Given the description of an element on the screen output the (x, y) to click on. 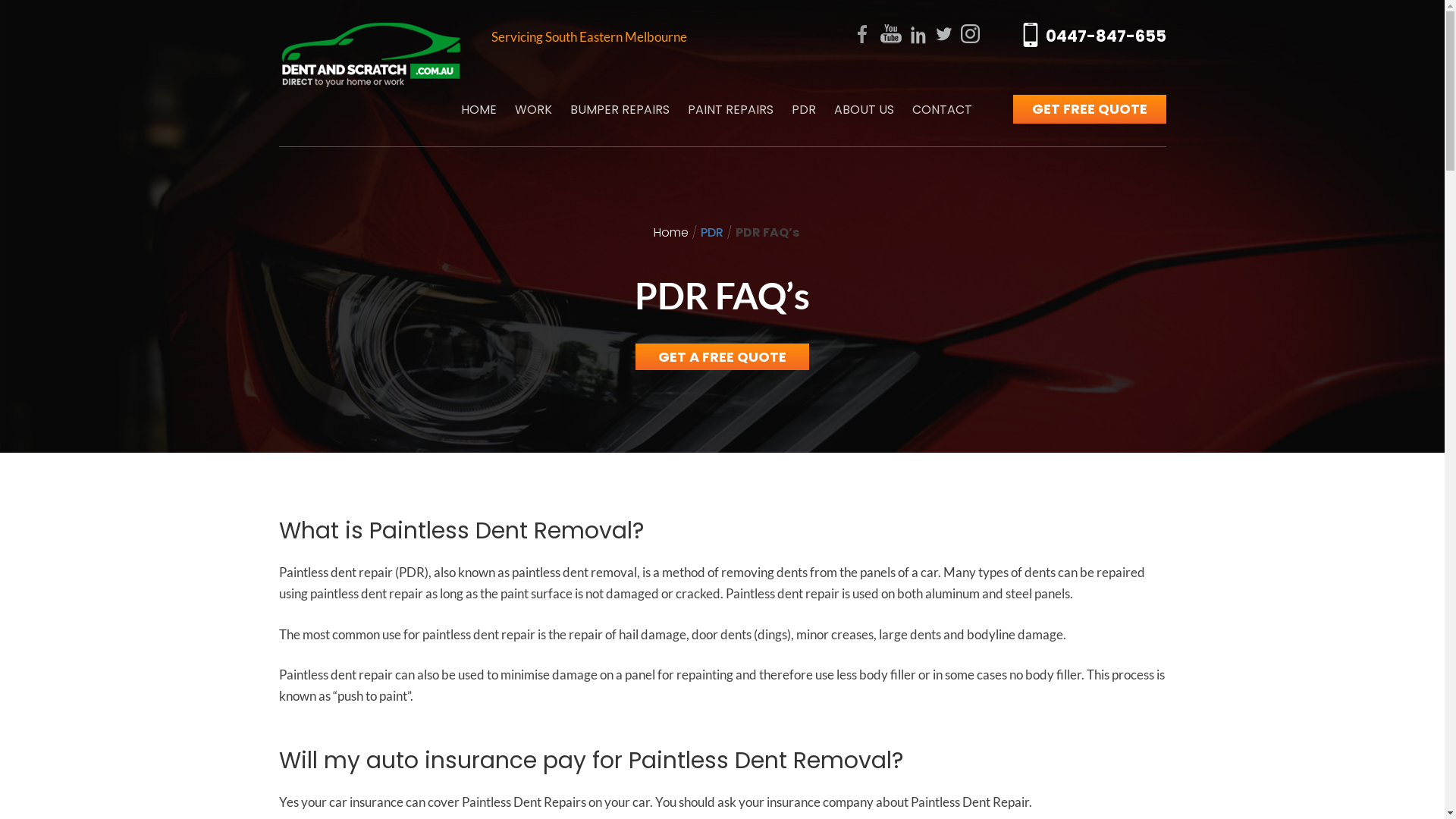
GET FREE QUOTE Element type: text (1089, 108)
PAINT REPAIRS Element type: text (729, 109)
HOME Element type: text (478, 109)
0447-847-655 Element type: text (1093, 39)
CONTACT Element type: text (941, 109)
BUMPER REPAIRS Element type: text (619, 109)
GET A FREE QUOTE Element type: text (722, 356)
Home Element type: text (670, 232)
PDR Element type: text (803, 109)
WORK Element type: text (532, 109)
PDR Element type: text (711, 232)
ABOUT US Element type: text (864, 109)
